Given the description of an element on the screen output the (x, y) to click on. 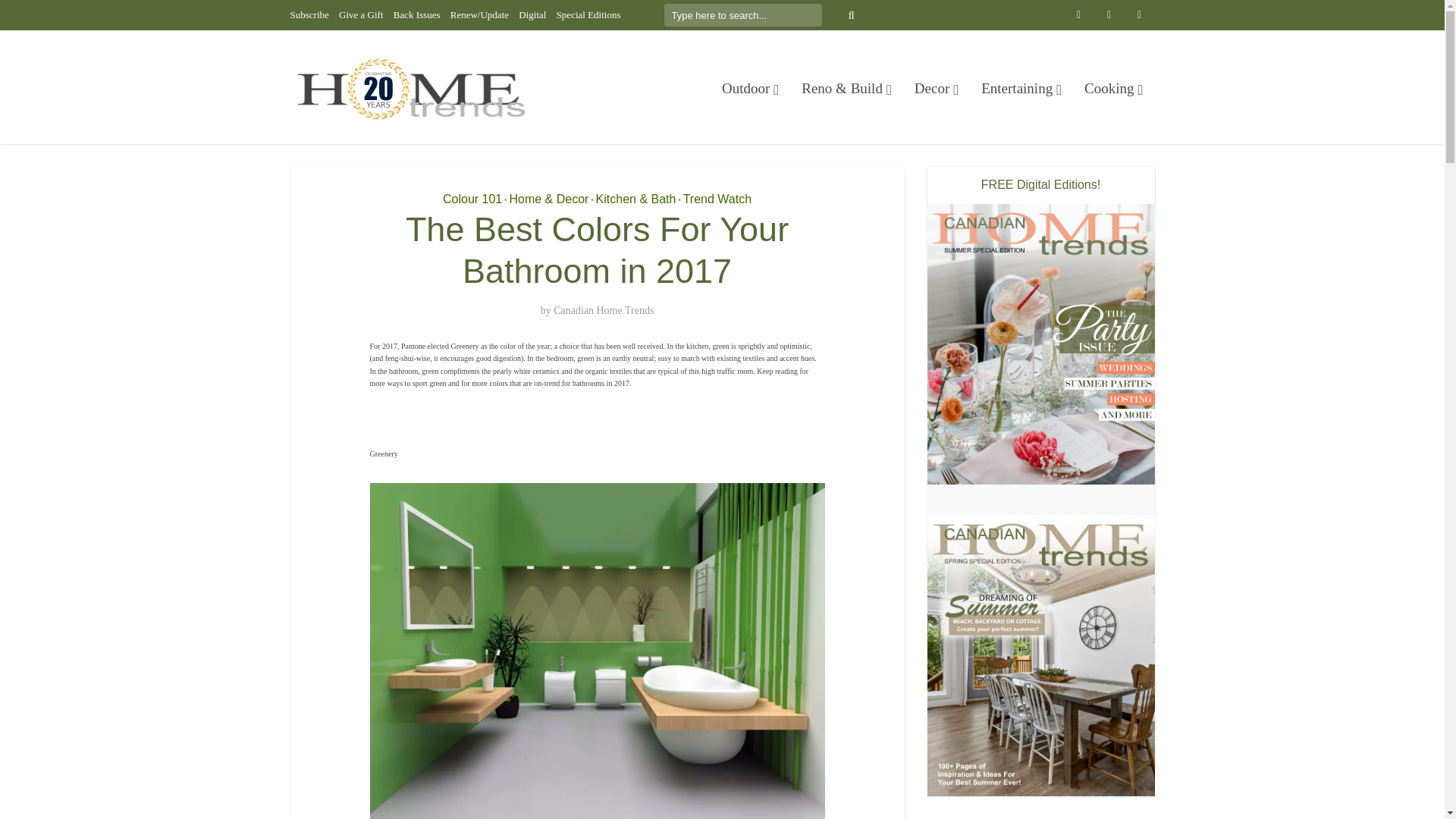
Digital (532, 14)
Type here to search... (742, 15)
Special Editions (588, 14)
Back Issues (417, 14)
Subscribe (309, 14)
Give a Gift (360, 14)
Type here to search... (742, 15)
